Given the description of an element on the screen output the (x, y) to click on. 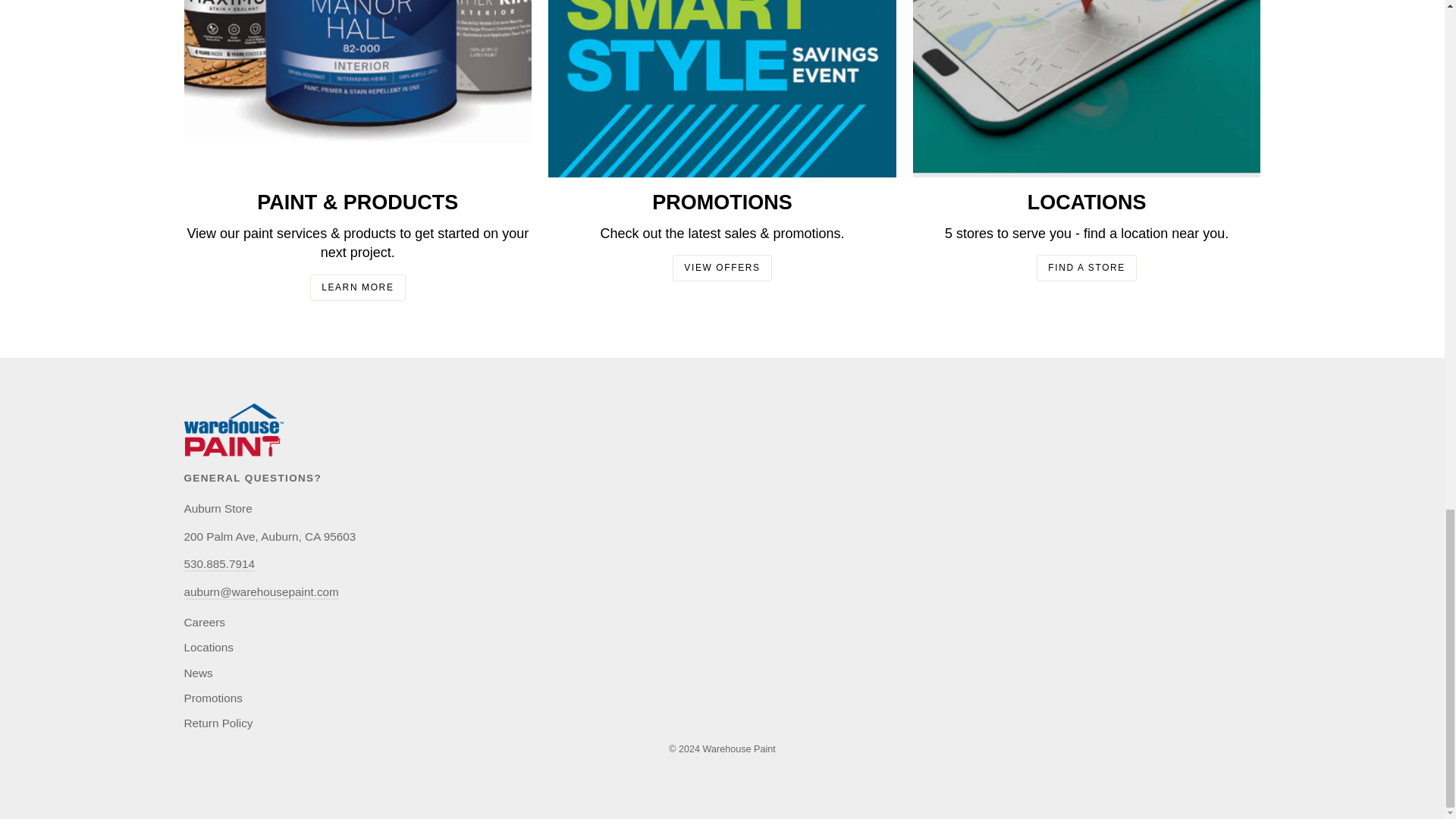
tel:530-885-7914 (218, 564)
